Given the description of an element on the screen output the (x, y) to click on. 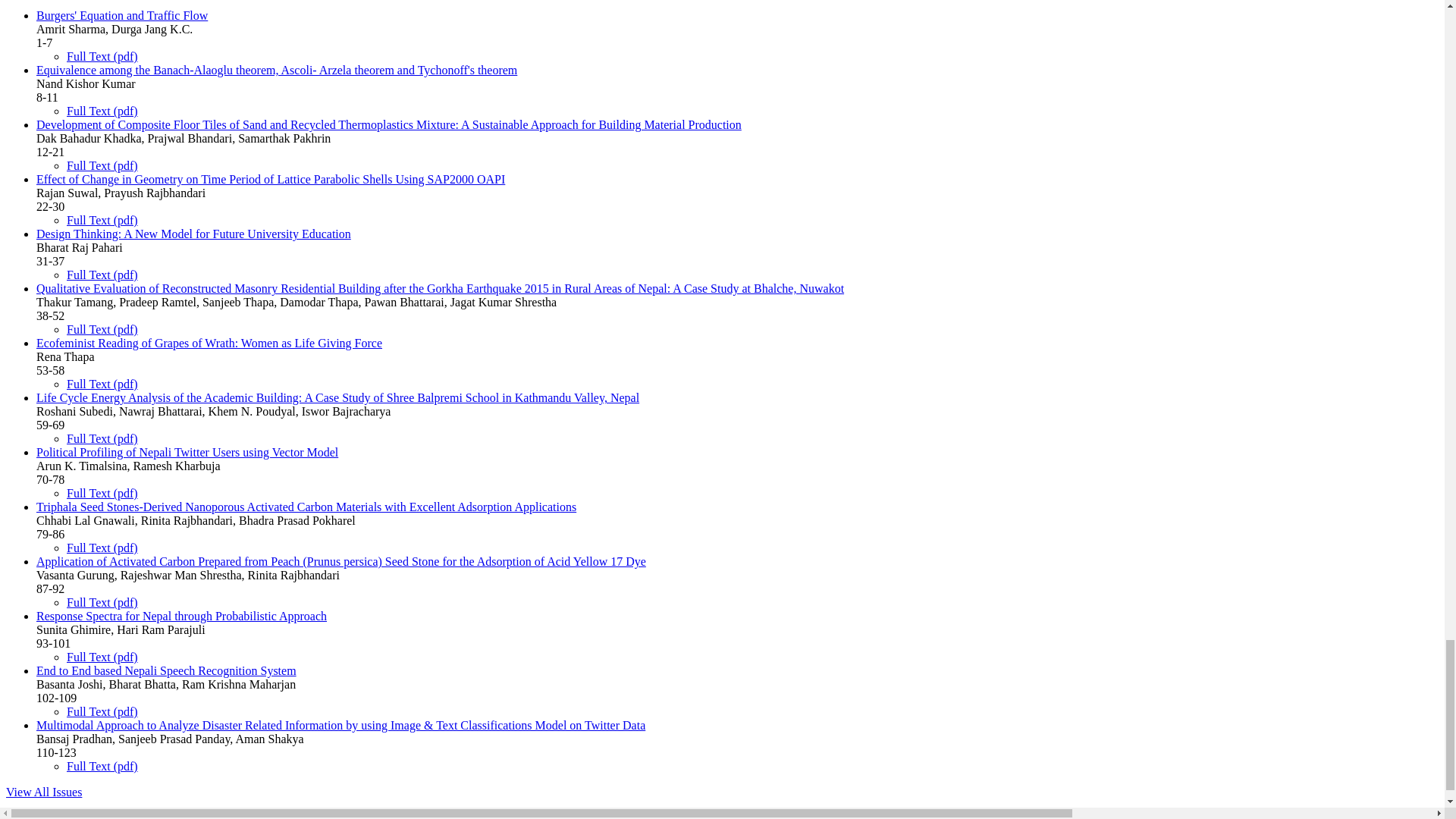
Design Thinking: A New Model for Future University Education (193, 233)
Burgers' Equation and Traffic Flow (122, 15)
